Given the description of an element on the screen output the (x, y) to click on. 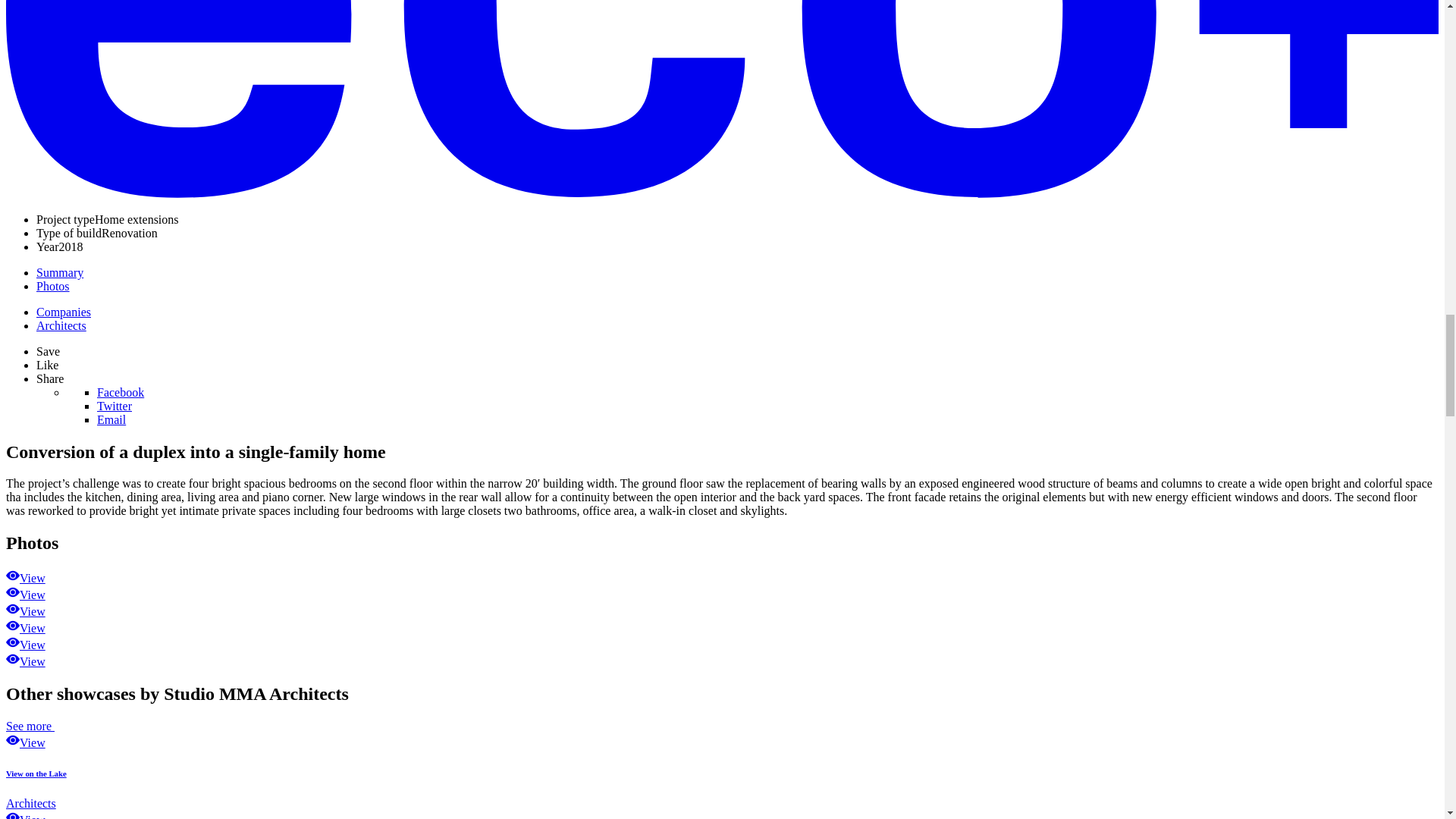
4Rooms (25, 661)
4Rooms (25, 627)
4Rooms (25, 611)
4Rooms (25, 577)
4Rooms (25, 594)
4Rooms (25, 644)
